Given the description of an element on the screen output the (x, y) to click on. 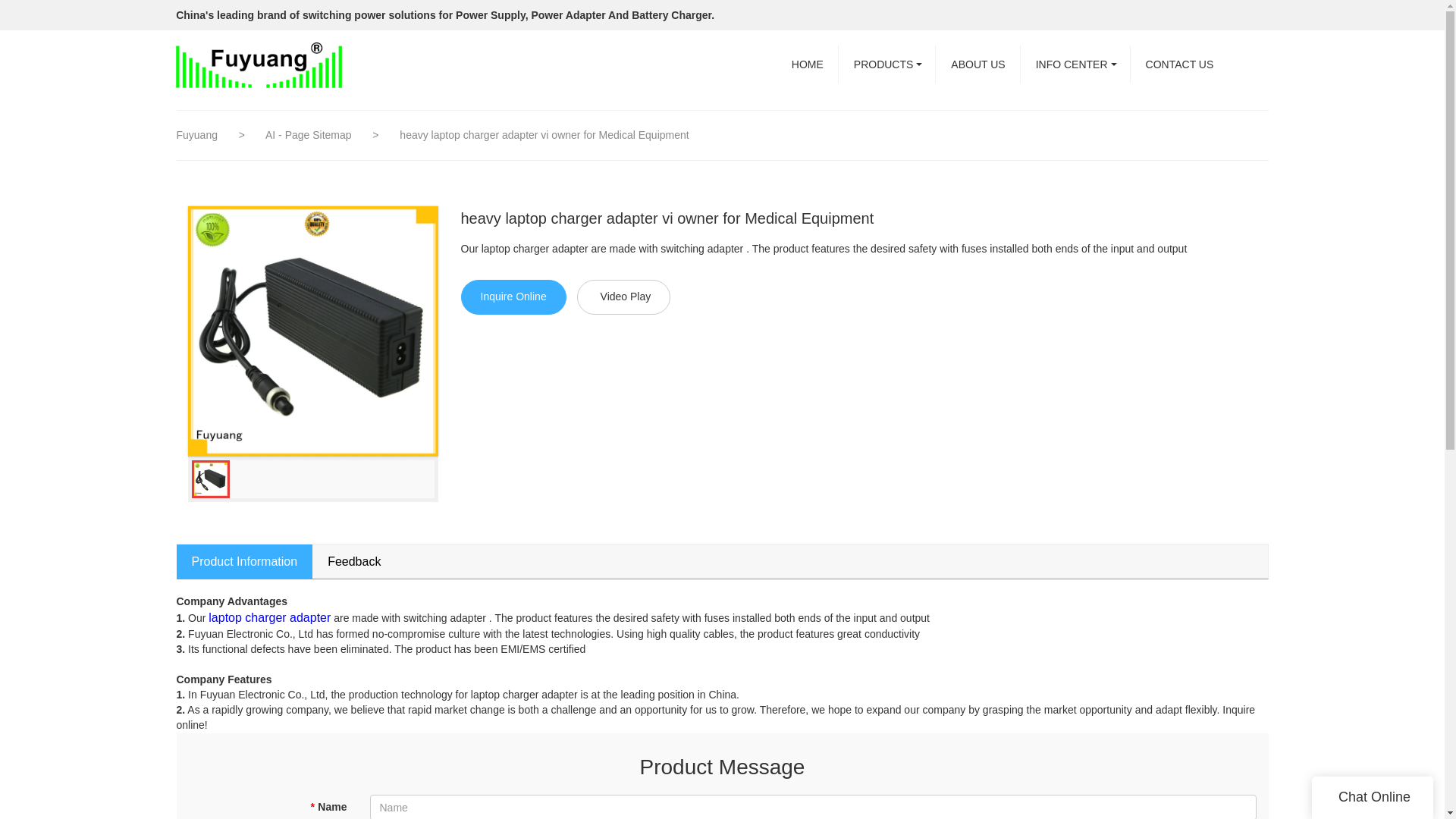
CONTACT US (1179, 64)
Inquire Online (513, 297)
HOME (807, 64)
ABOUT US (978, 64)
Video Play (623, 297)
INFO CENTER (1075, 64)
laptop charger adapter (269, 617)
Fuyuang (196, 134)
PRODUCTS (887, 64)
AI - Page Sitemap (309, 134)
Feedback (354, 561)
Product Information (244, 561)
